Given the description of an element on the screen output the (x, y) to click on. 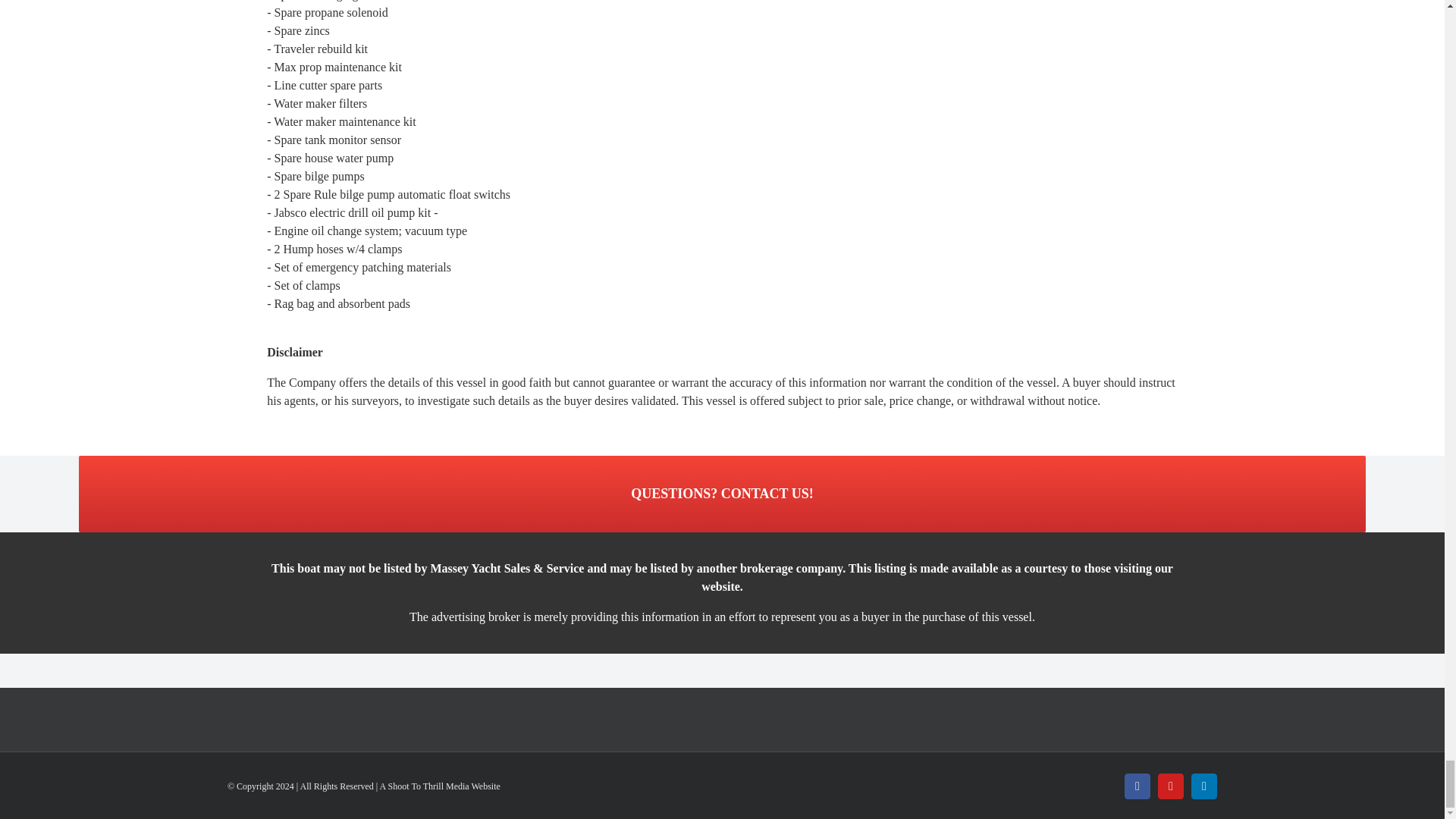
LinkedIn (1204, 786)
YouTube (1170, 786)
Facebook (1137, 786)
